Given the description of an element on the screen output the (x, y) to click on. 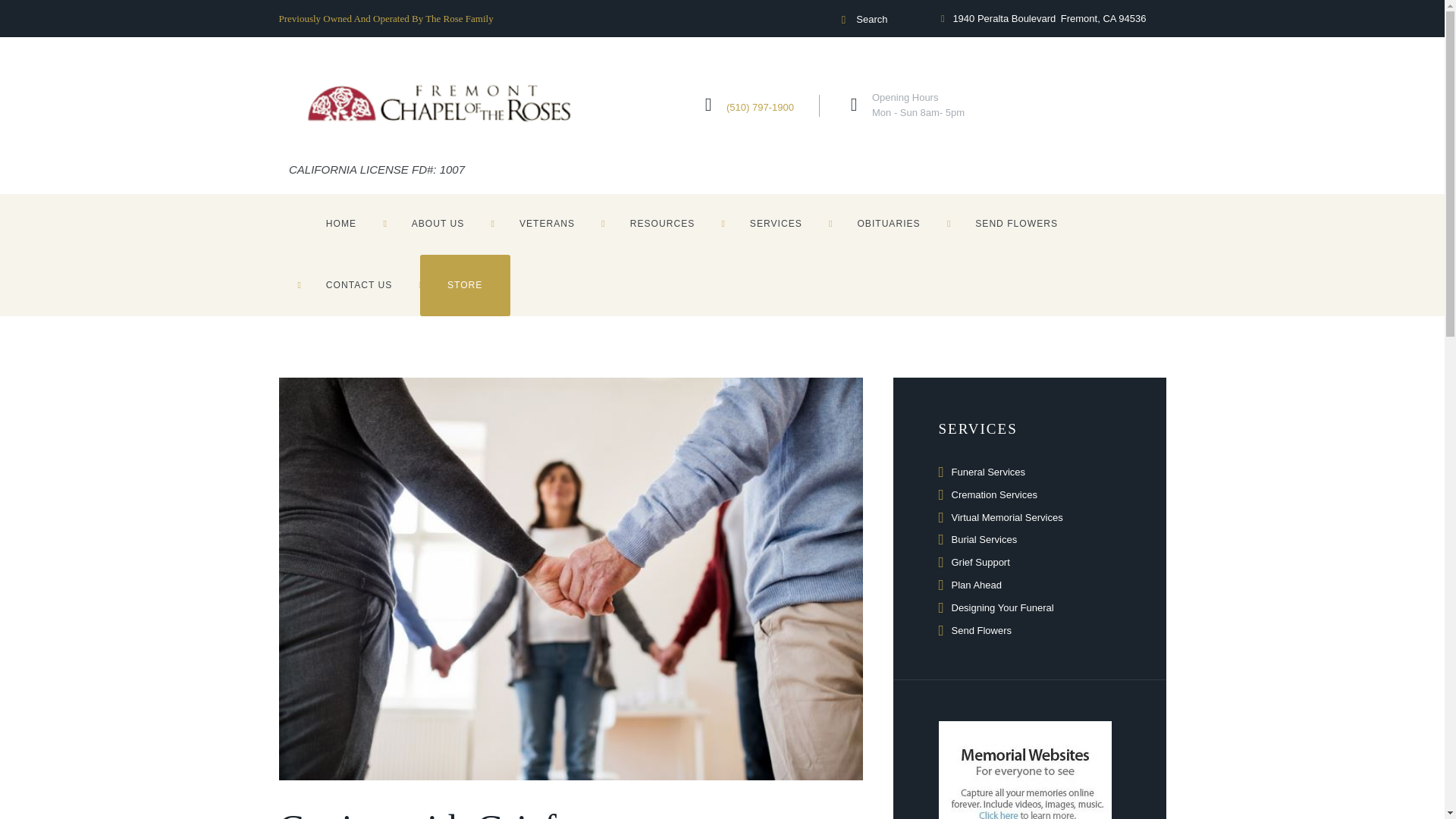
STORE (465, 285)
SEND FLOWERS (1015, 224)
RESOURCES (662, 224)
VETERANS (547, 224)
ABOUT US (438, 224)
SERVICES (775, 224)
HOME (341, 224)
OBITUARIES (888, 224)
Start search (842, 19)
CONTACT US (359, 285)
